Given the description of an element on the screen output the (x, y) to click on. 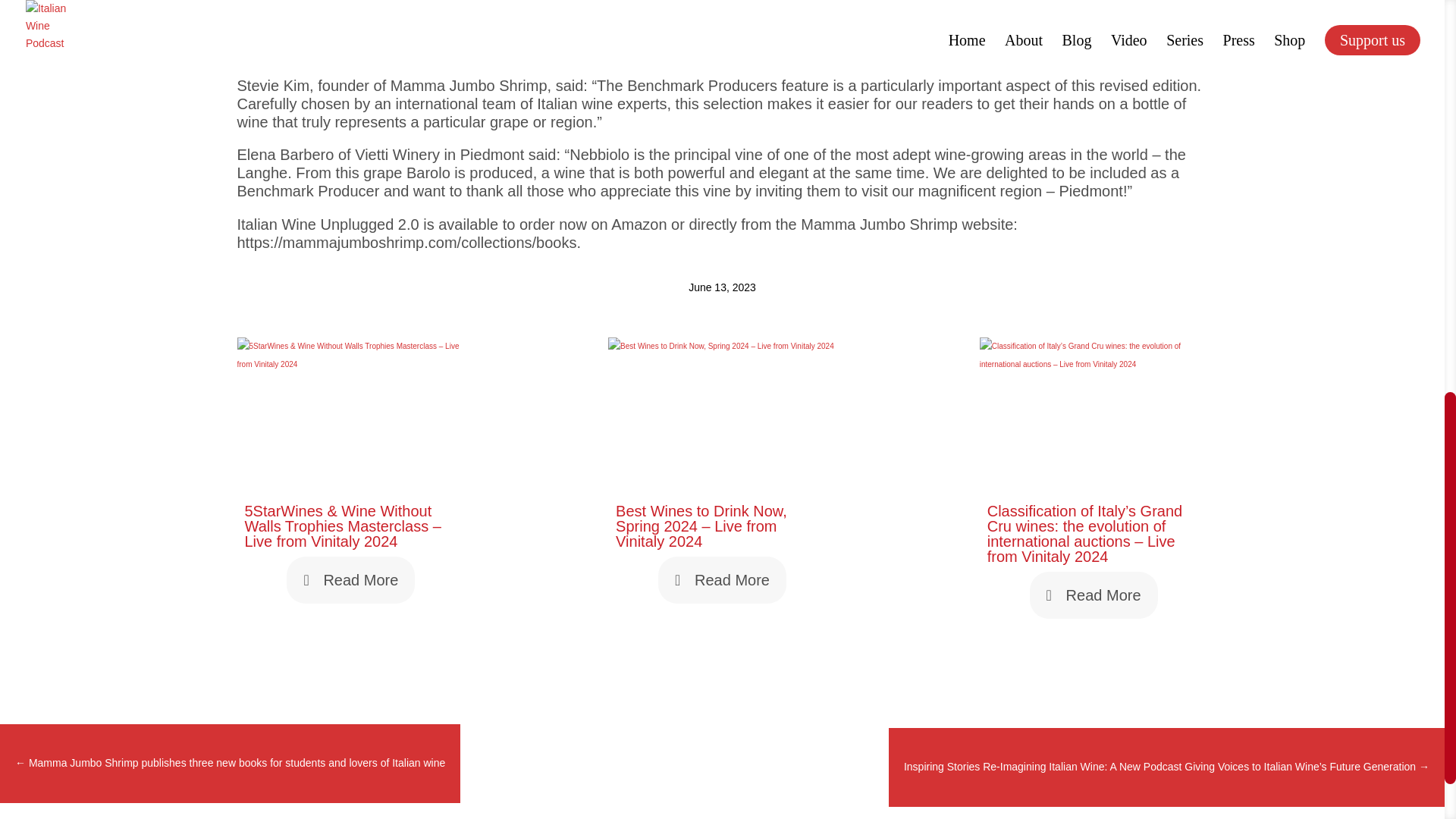
Read More (350, 579)
Read More (1093, 595)
Read More (722, 579)
